Given the description of an element on the screen output the (x, y) to click on. 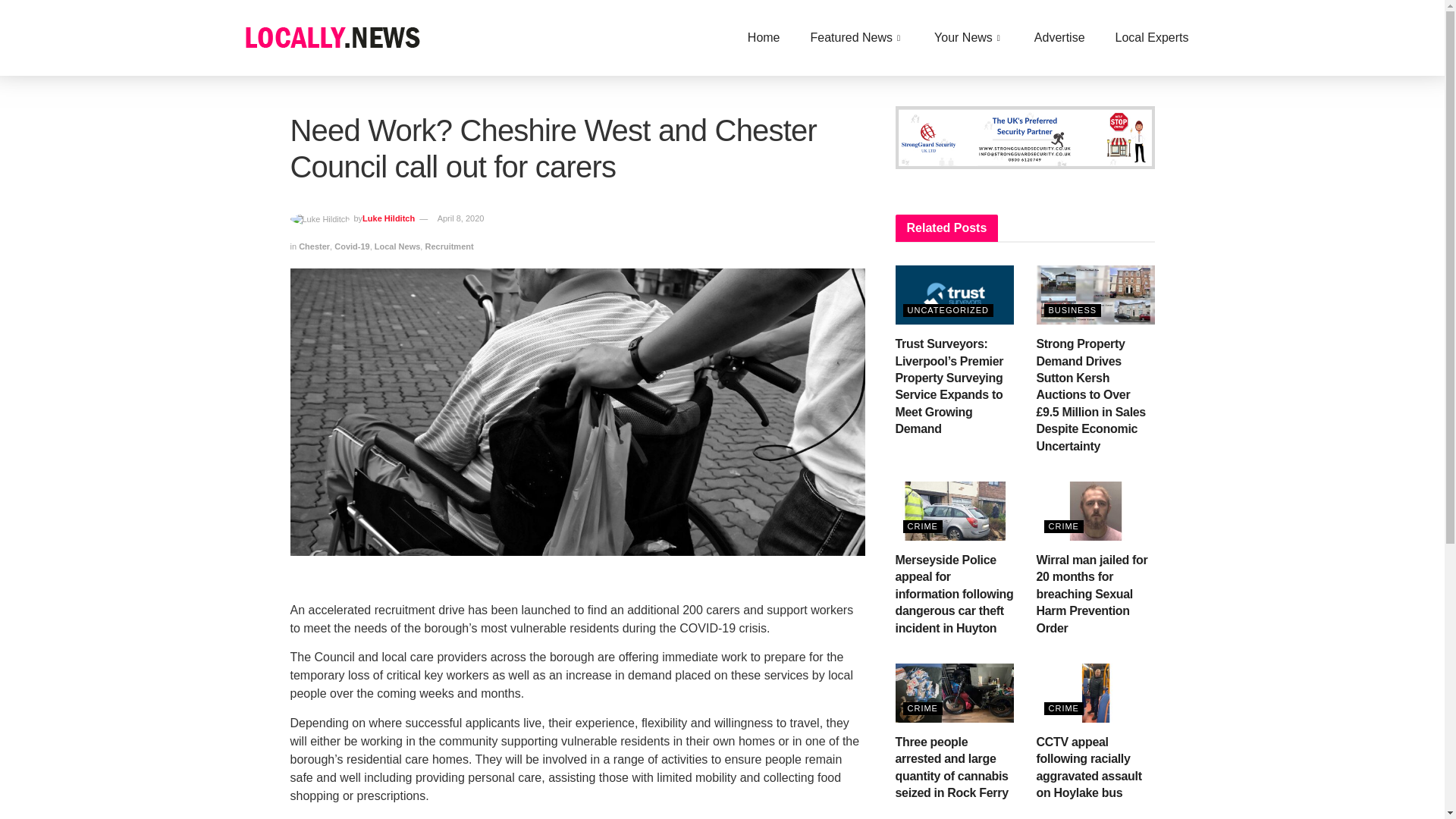
Advertise (1059, 37)
Featured News (857, 37)
Local Experts (1152, 37)
Home (763, 37)
Your News (968, 37)
